Given the description of an element on the screen output the (x, y) to click on. 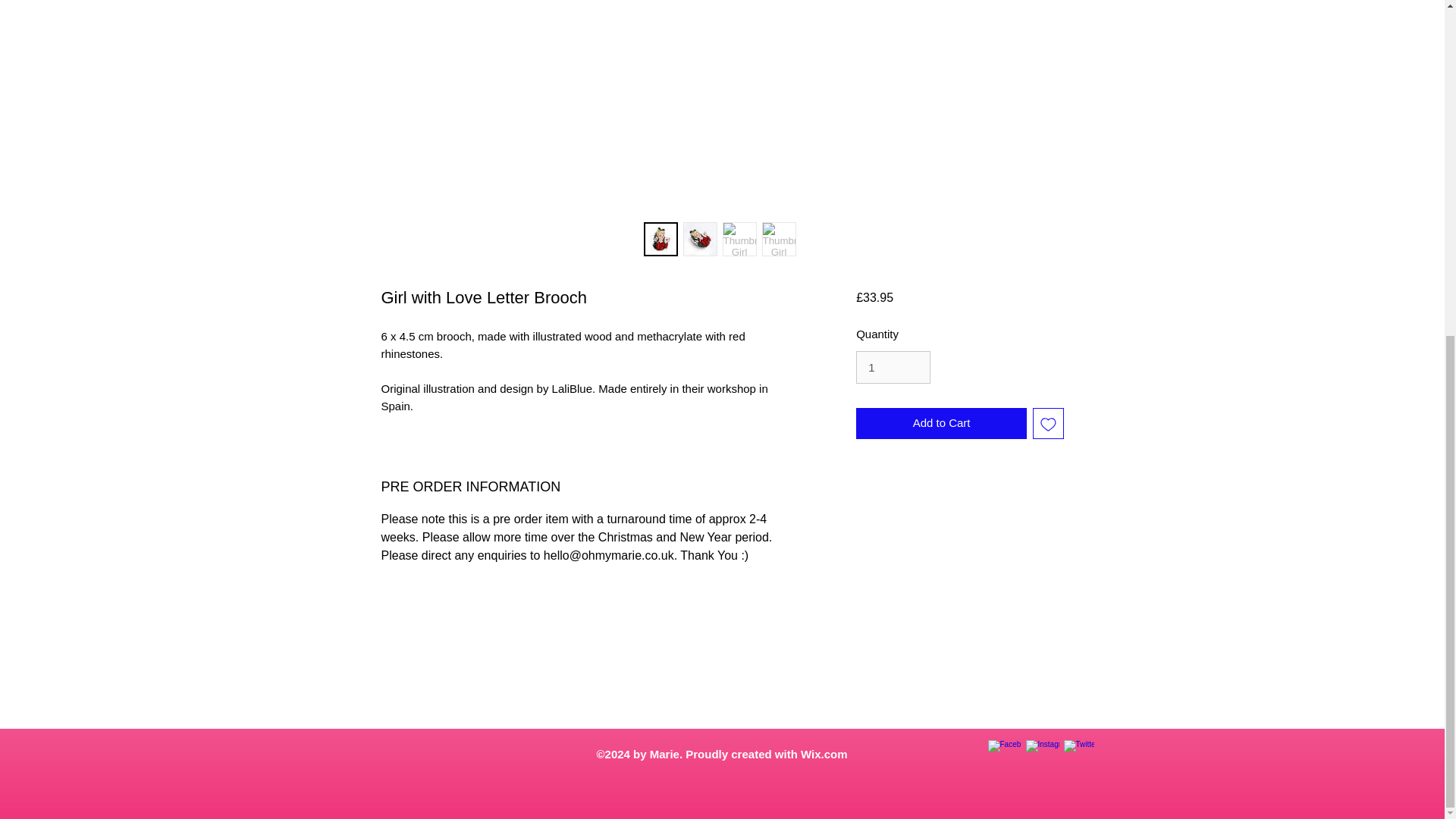
1 (893, 367)
Add to Cart (941, 422)
